Given the description of an element on the screen output the (x, y) to click on. 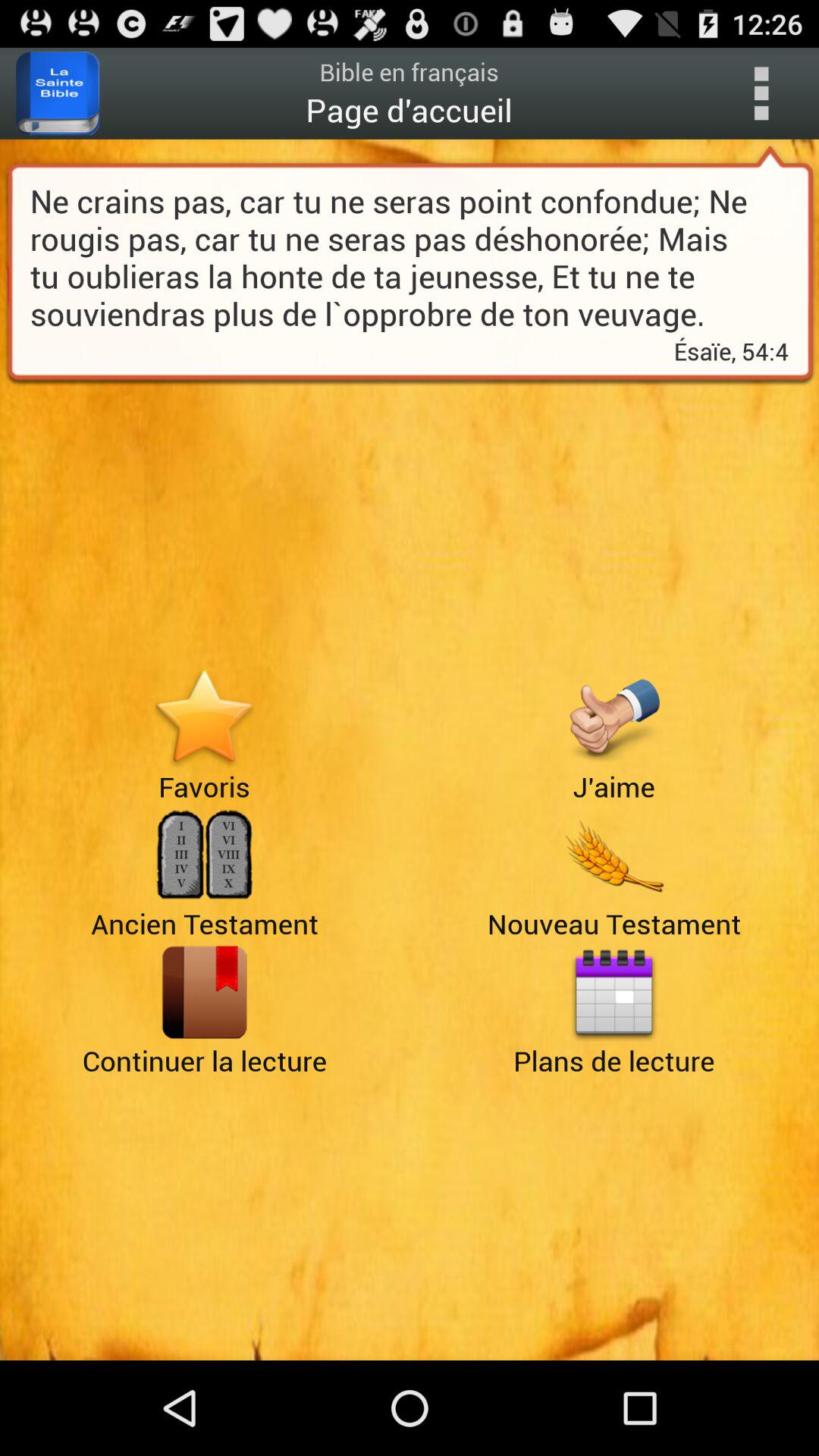
open plans de lecture (613, 991)
